Given the description of an element on the screen output the (x, y) to click on. 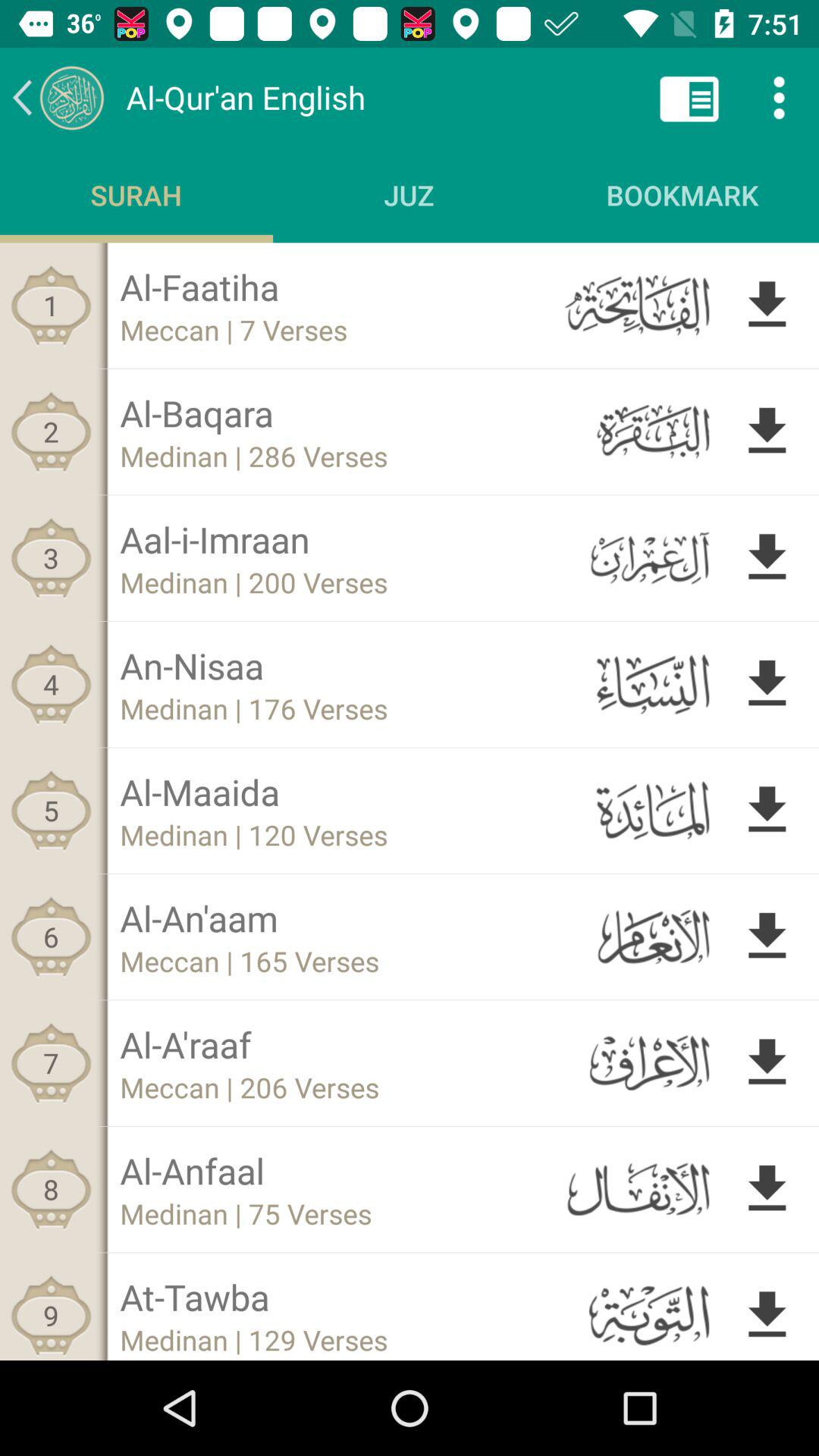
go to previous (58, 97)
